Given the description of an element on the screen output the (x, y) to click on. 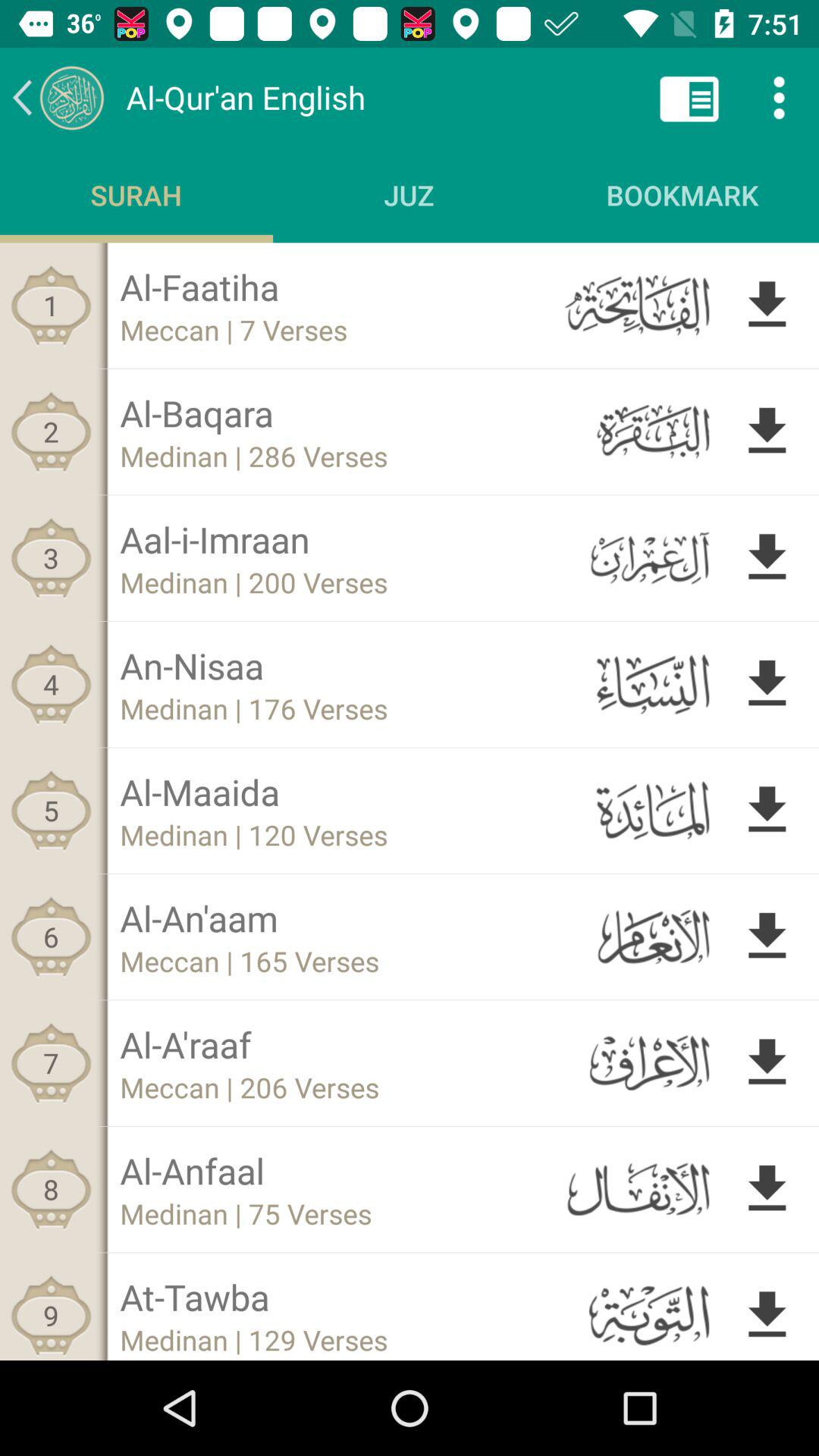
go to previous (58, 97)
